Given the description of an element on the screen output the (x, y) to click on. 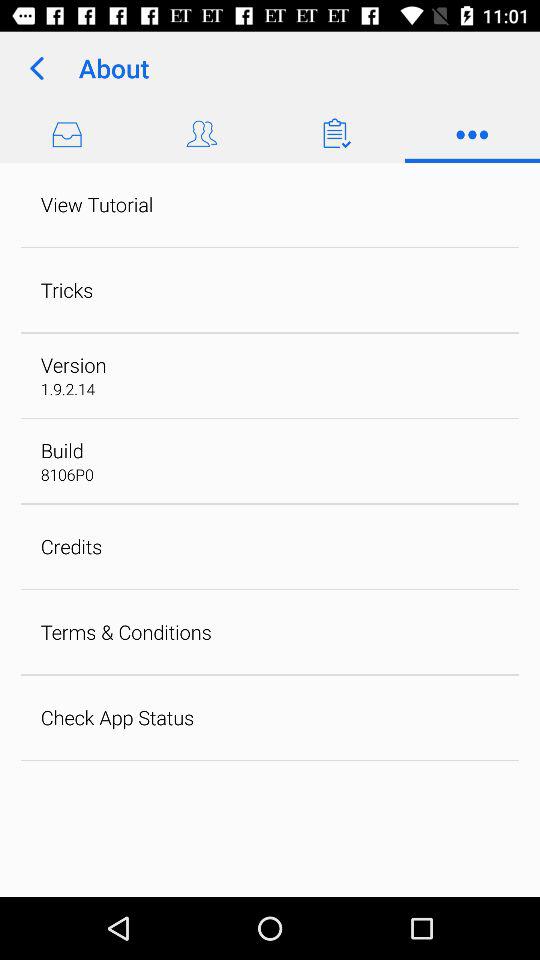
launch the icon next to about app (36, 68)
